Given the description of an element on the screen output the (x, y) to click on. 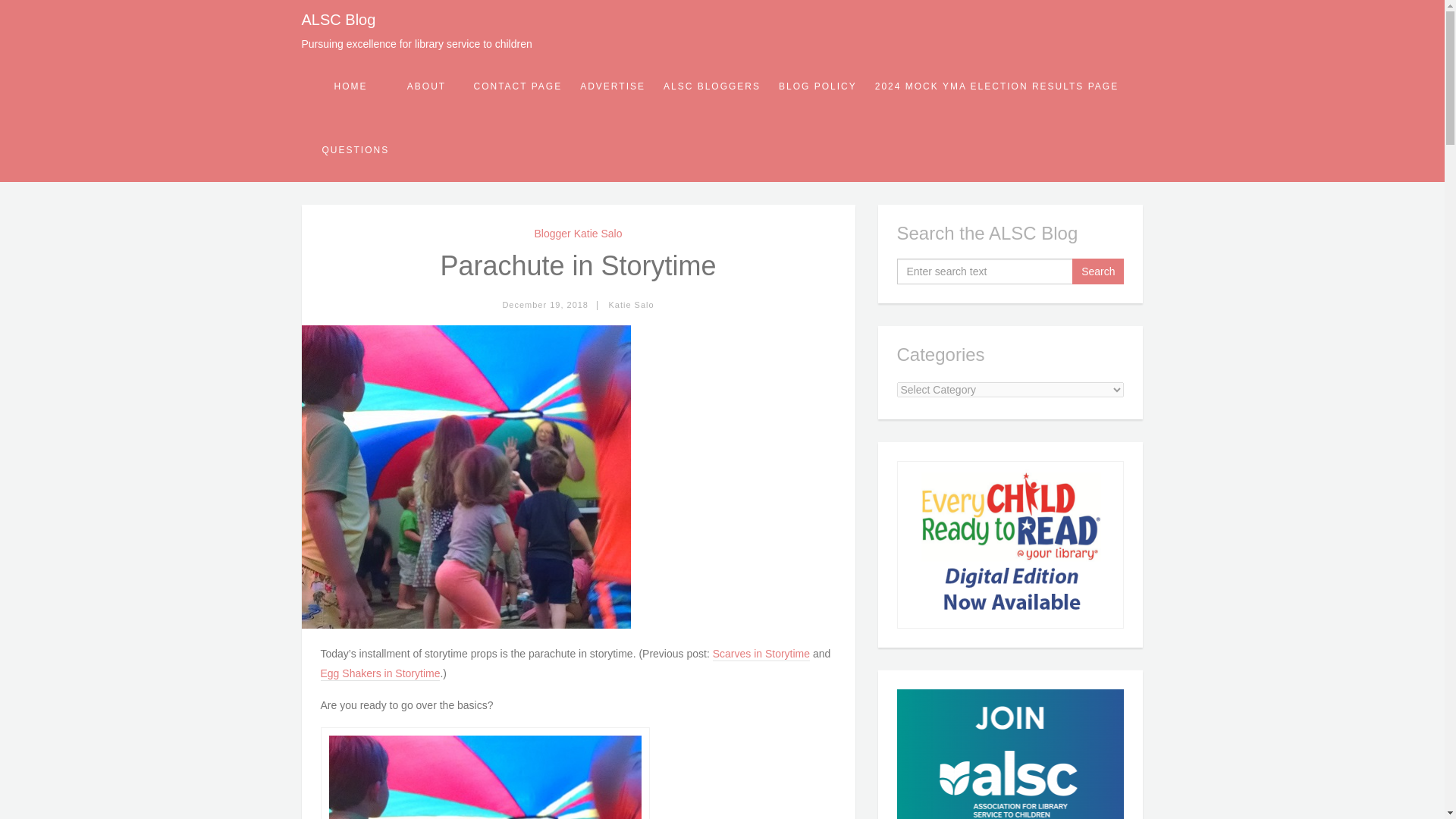
Egg Shakers in Storytime (379, 673)
ALSC Bloggers (711, 85)
Contact Page (517, 85)
Home (350, 85)
HOME (350, 85)
About (426, 85)
ALSC BLOGGERS (711, 85)
ALSC Blog (338, 19)
Questions (355, 149)
Scarves in Storytime (761, 653)
